Given the description of an element on the screen output the (x, y) to click on. 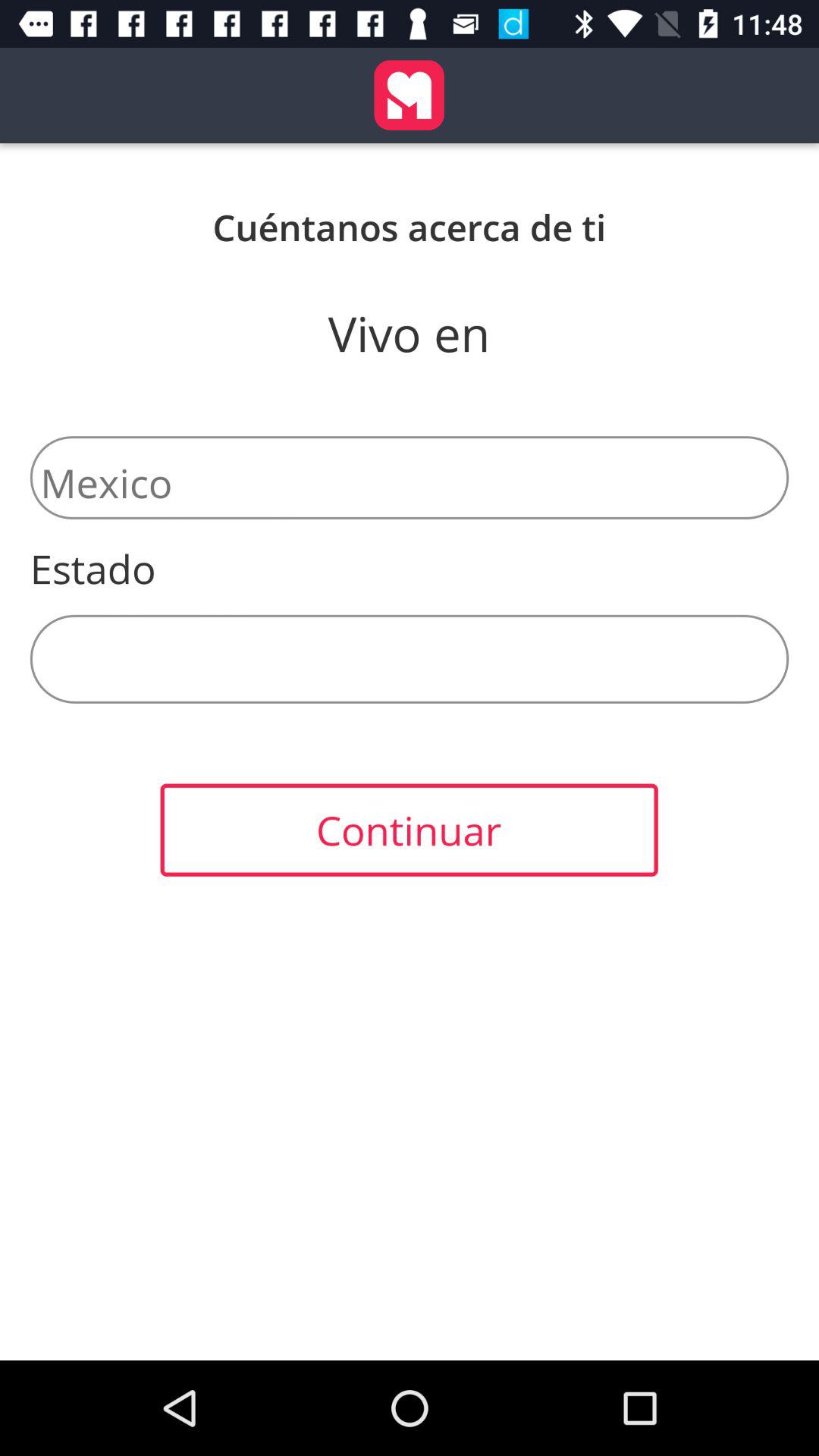
click item above continuar icon (409, 658)
